Given the description of an element on the screen output the (x, y) to click on. 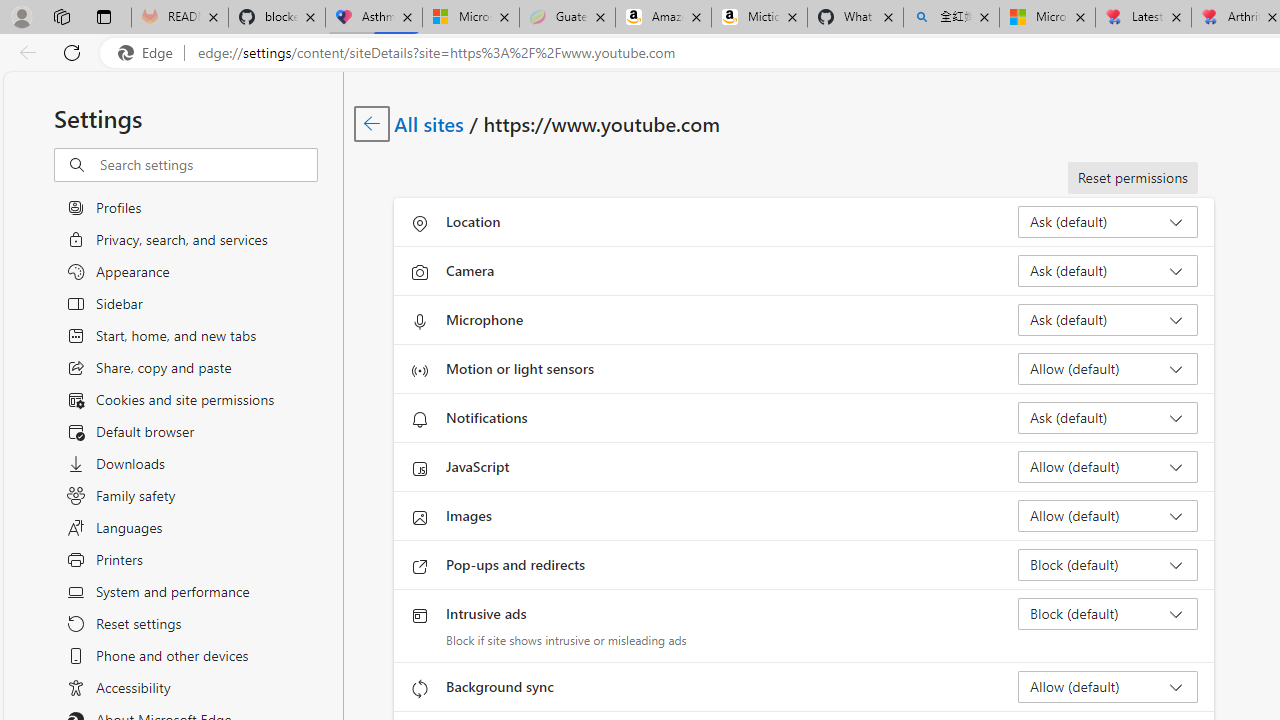
Location Ask (default) (1107, 221)
Motion or light sensors Allow (default) (1107, 368)
Class: c01162 (371, 123)
Reset permissions (1132, 177)
Background sync Allow (default) (1107, 686)
Notifications Ask (default) (1107, 417)
Camera Ask (default) (1107, 270)
